Given the description of an element on the screen output the (x, y) to click on. 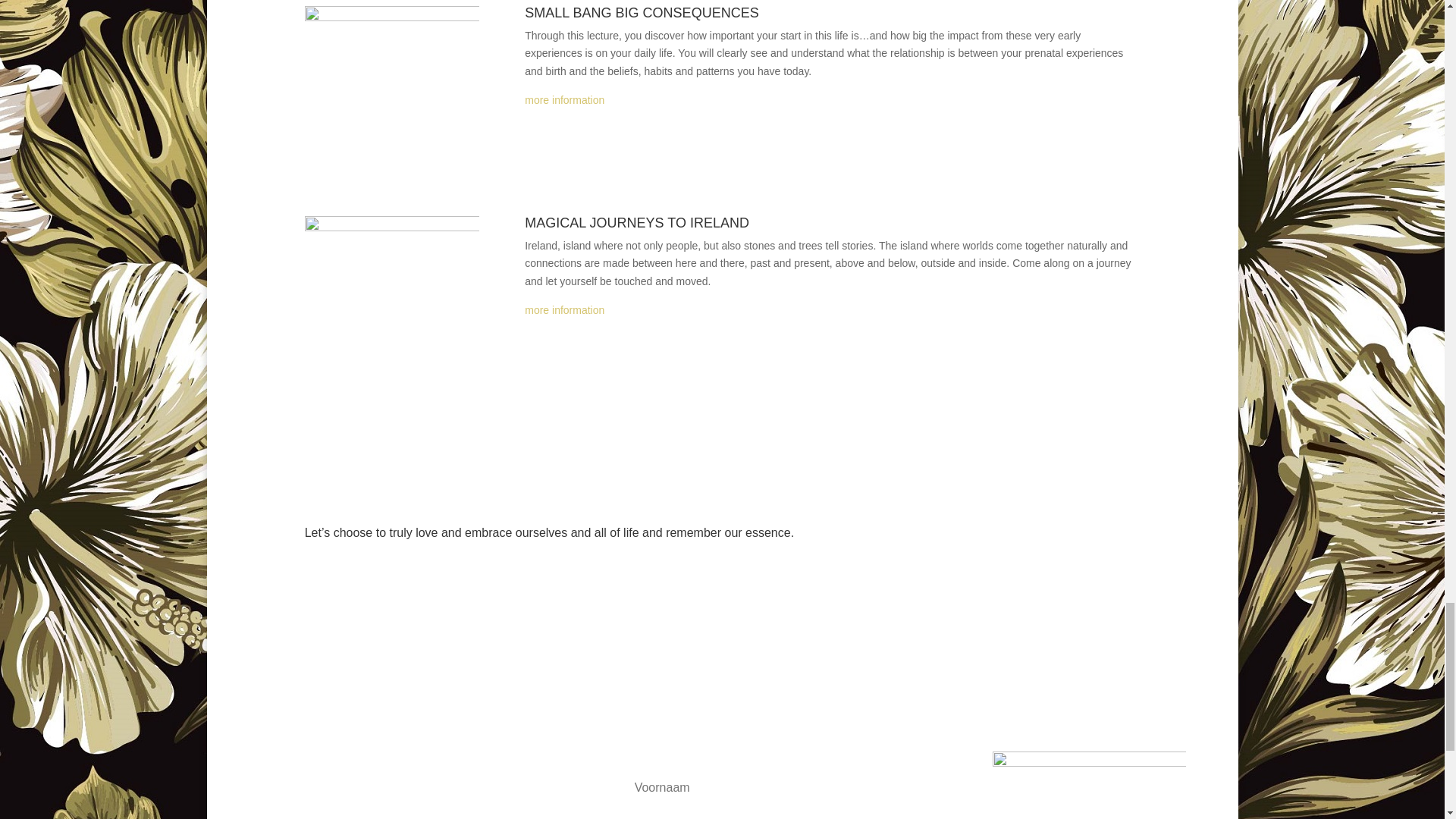
more information (564, 309)
logozwart (1089, 785)
magical journeys to ireland (564, 309)
Schermafbeelding 2020-08-09 om 13.11.30 (391, 87)
knop-triskelion1 (391, 303)
more information (564, 100)
